Given the description of an element on the screen output the (x, y) to click on. 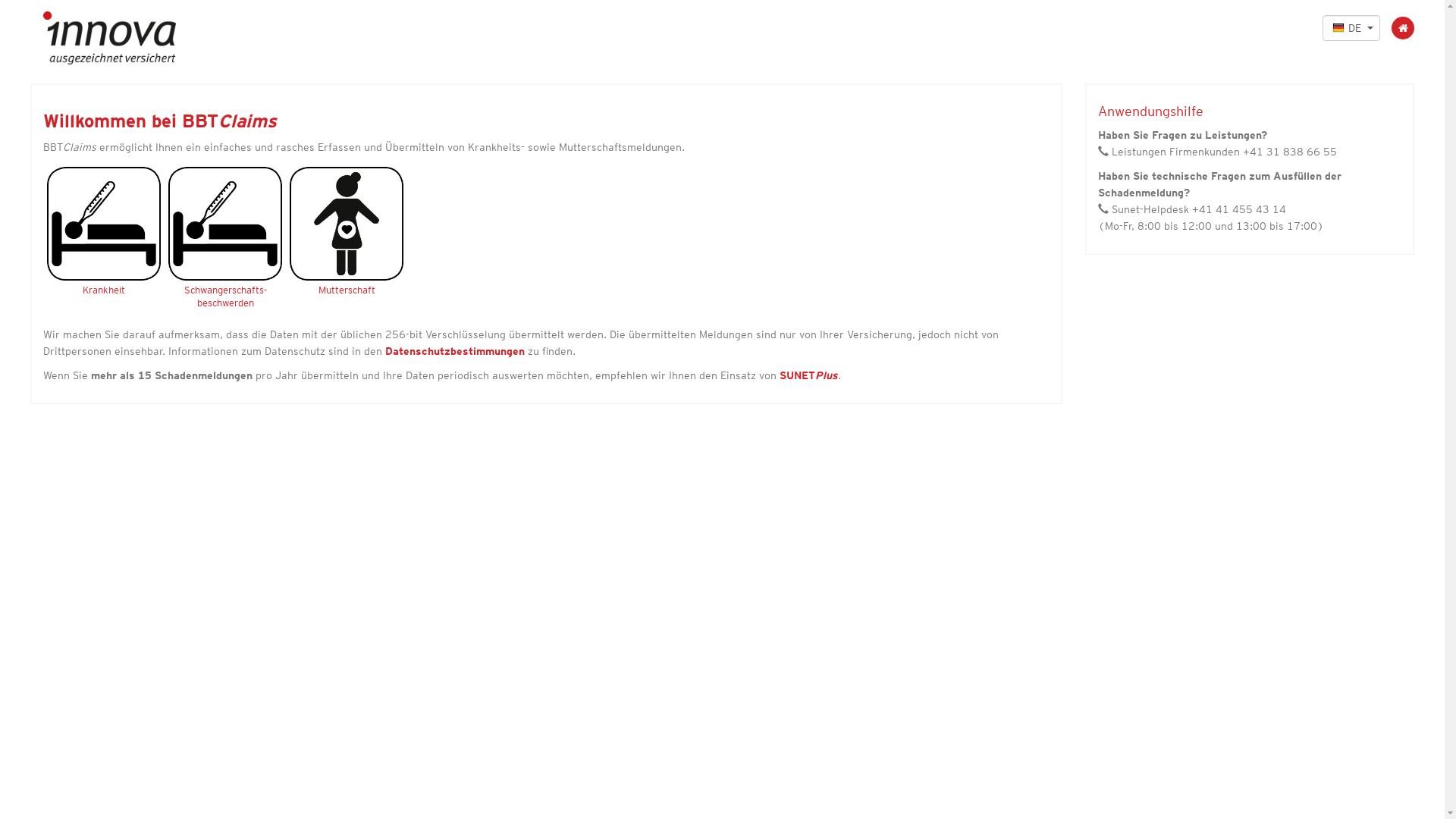
Krankheit Element type: text (103, 256)
DE Element type: text (1351, 27)
Mutterschaft Element type: text (346, 256)
Datenschutzbestimmungen Element type: text (454, 351)
SUNETPlus Element type: text (808, 375)
Schwangerschafts-beschwerden Element type: text (225, 262)
